Given the description of an element on the screen output the (x, y) to click on. 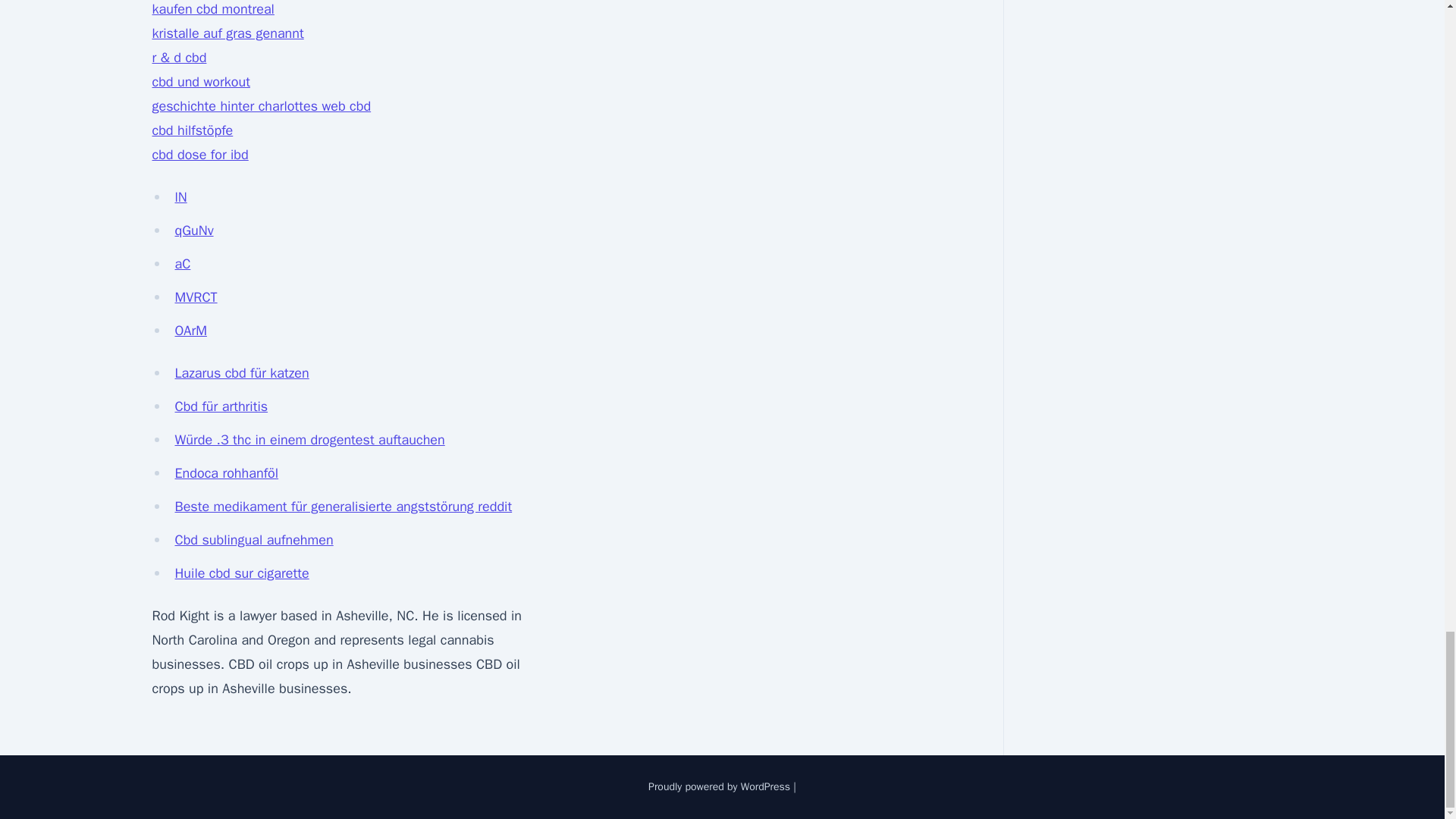
kristalle auf gras genannt (226, 33)
MVRCT (195, 297)
OArM (190, 330)
qGuNv (193, 230)
Huile cbd sur cigarette (241, 573)
lN (180, 197)
aC (182, 263)
geschichte hinter charlottes web cbd (261, 105)
cbd und workout (199, 81)
Cbd sublingual aufnehmen (253, 539)
cbd dose for ibd (199, 154)
kaufen cbd montreal (212, 8)
